Given the description of an element on the screen output the (x, y) to click on. 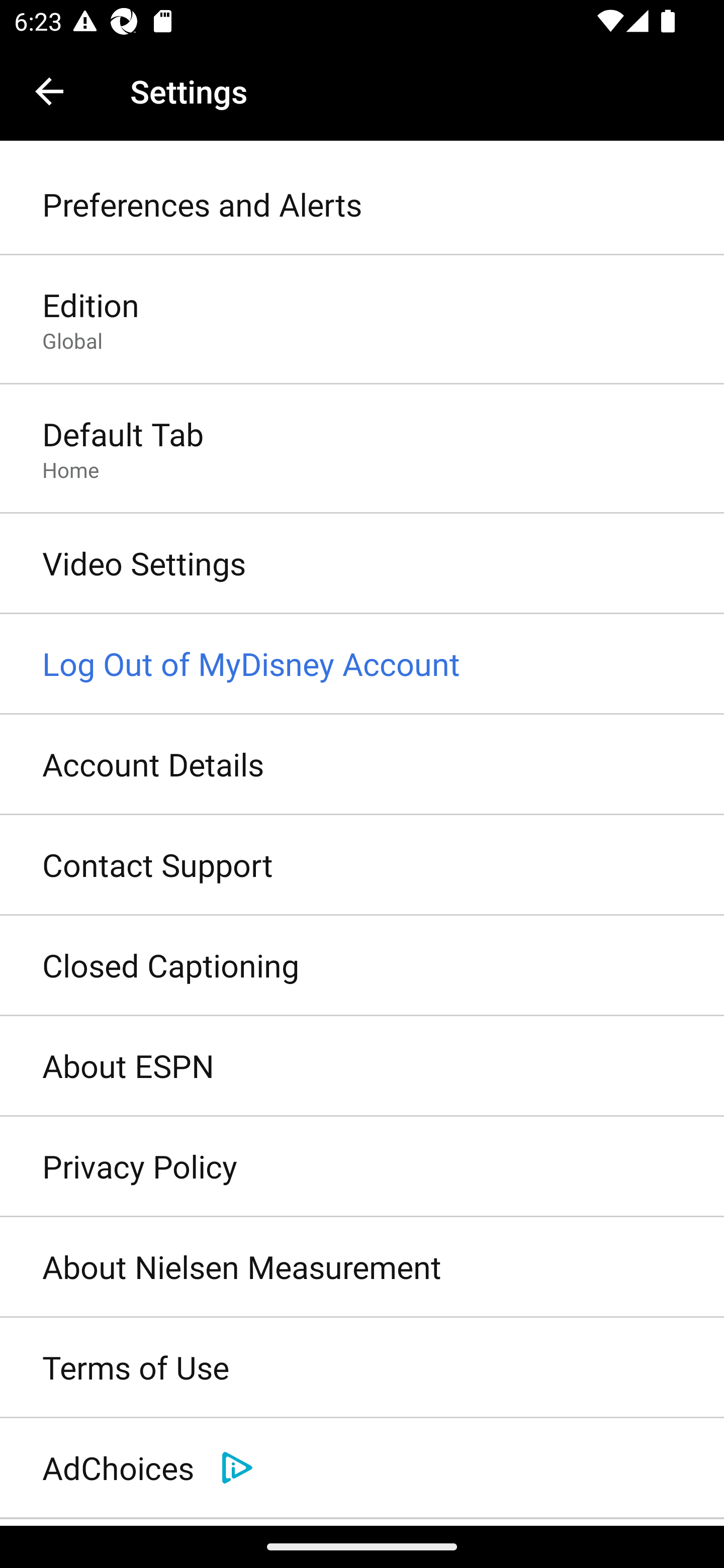
Navigate up (49, 91)
Preferences and Alerts (362, 205)
Edition Global (362, 320)
Default Tab Home (362, 449)
Video Settings (362, 564)
Log Out of MyDisney Account (362, 664)
Account Details (362, 765)
Contact Support (362, 865)
Closed Captioning (362, 965)
About ESPN (362, 1066)
Privacy Policy (362, 1167)
About Nielsen Measurement (362, 1267)
Terms of Use (362, 1368)
AdChoices (362, 1468)
